Given the description of an element on the screen output the (x, y) to click on. 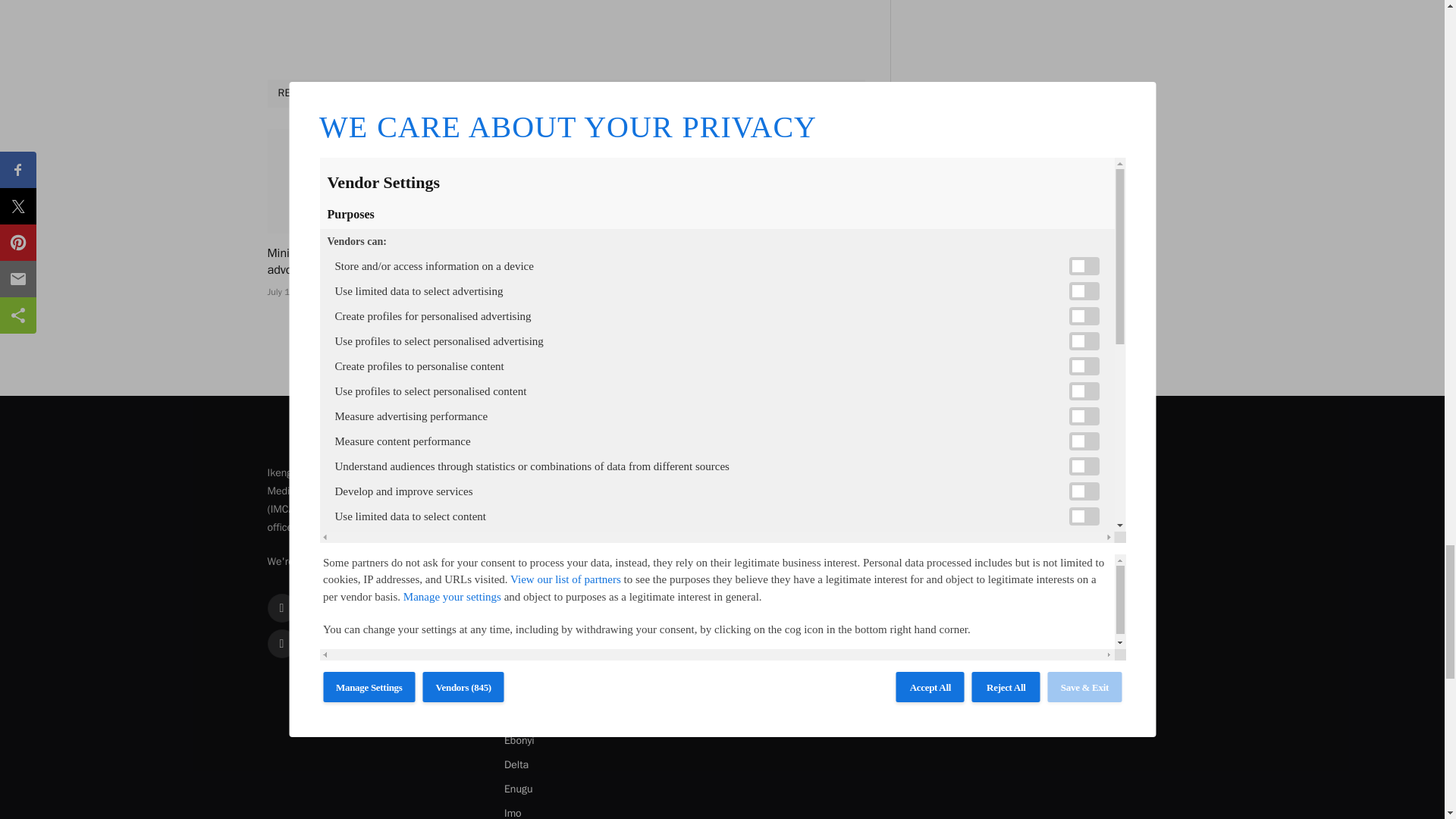
on (767, 652)
Subscribe (840, 614)
